Given the description of an element on the screen output the (x, y) to click on. 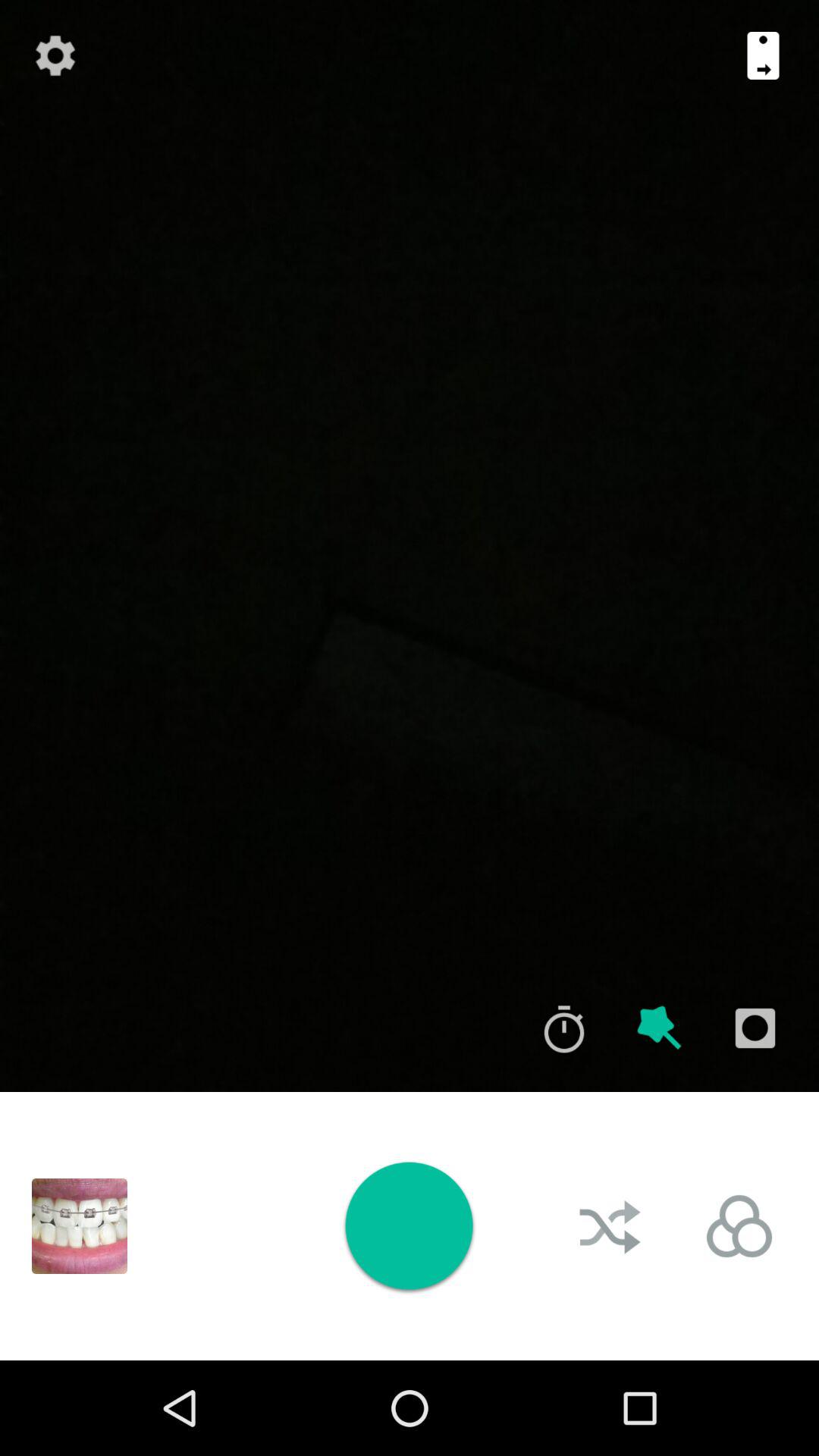
select icon at the top right corner (763, 55)
